Given the description of an element on the screen output the (x, y) to click on. 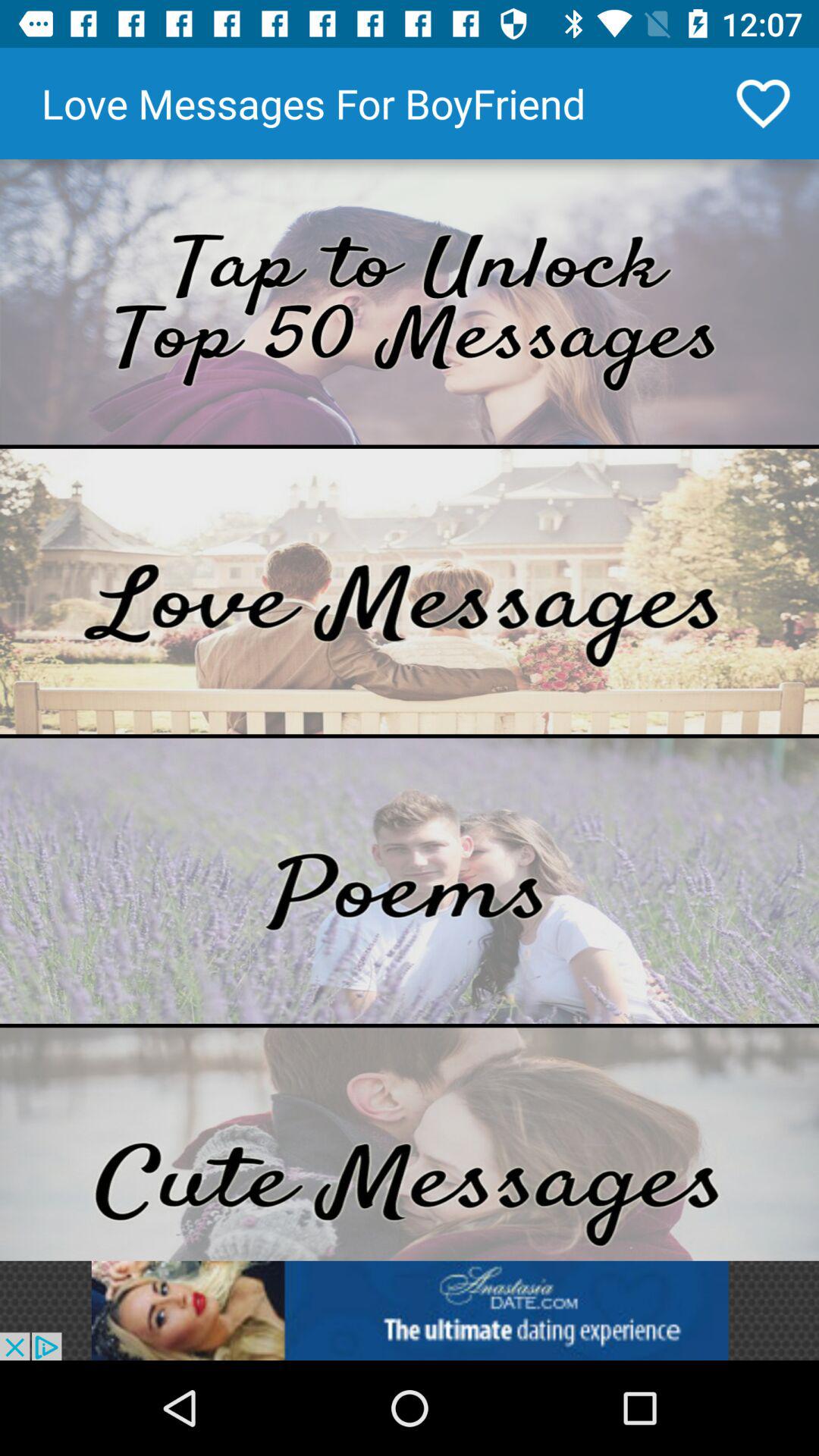
go to advertisement (409, 301)
